Given the description of an element on the screen output the (x, y) to click on. 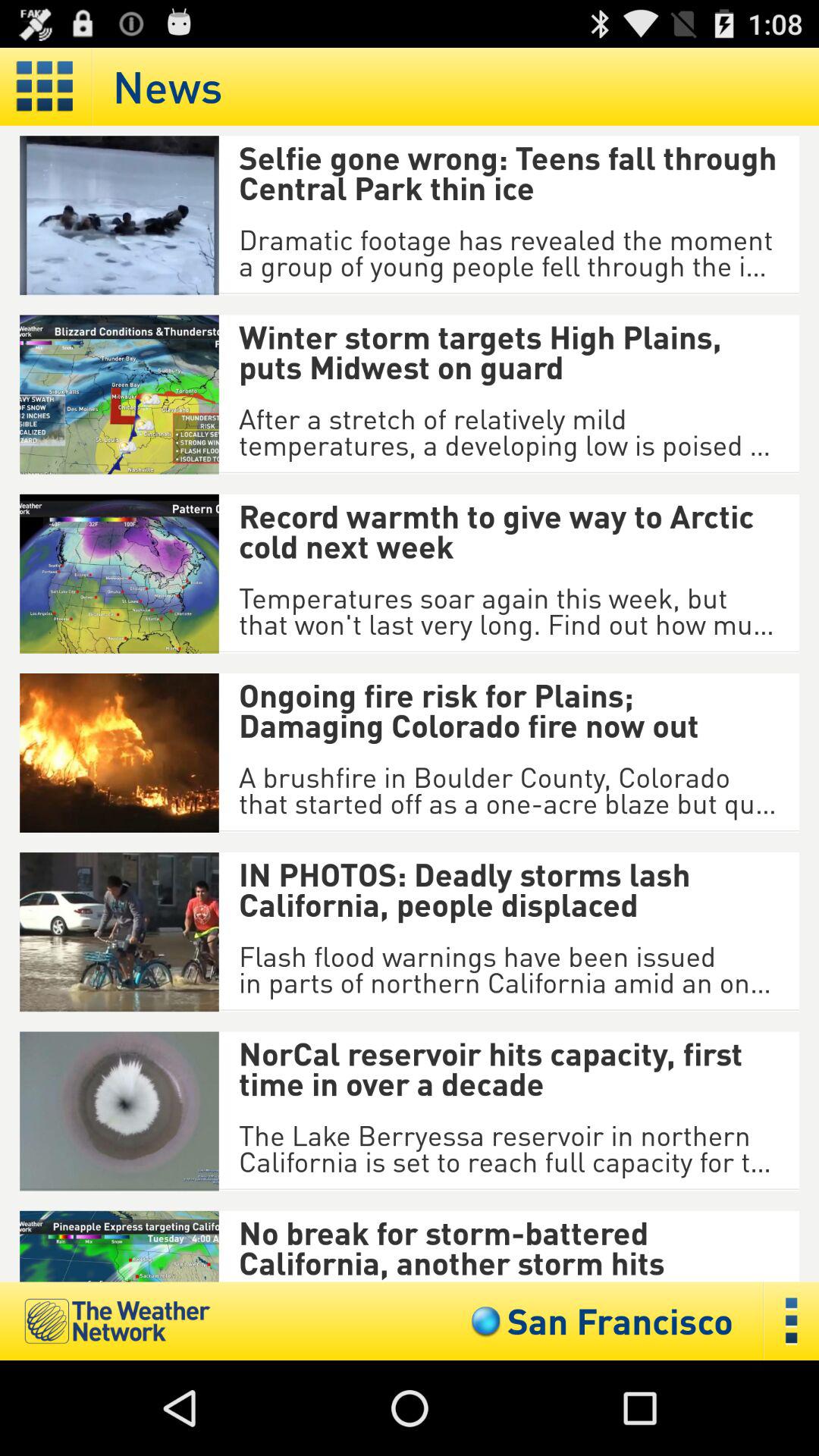
show tiles (45, 86)
